Given the description of an element on the screen output the (x, y) to click on. 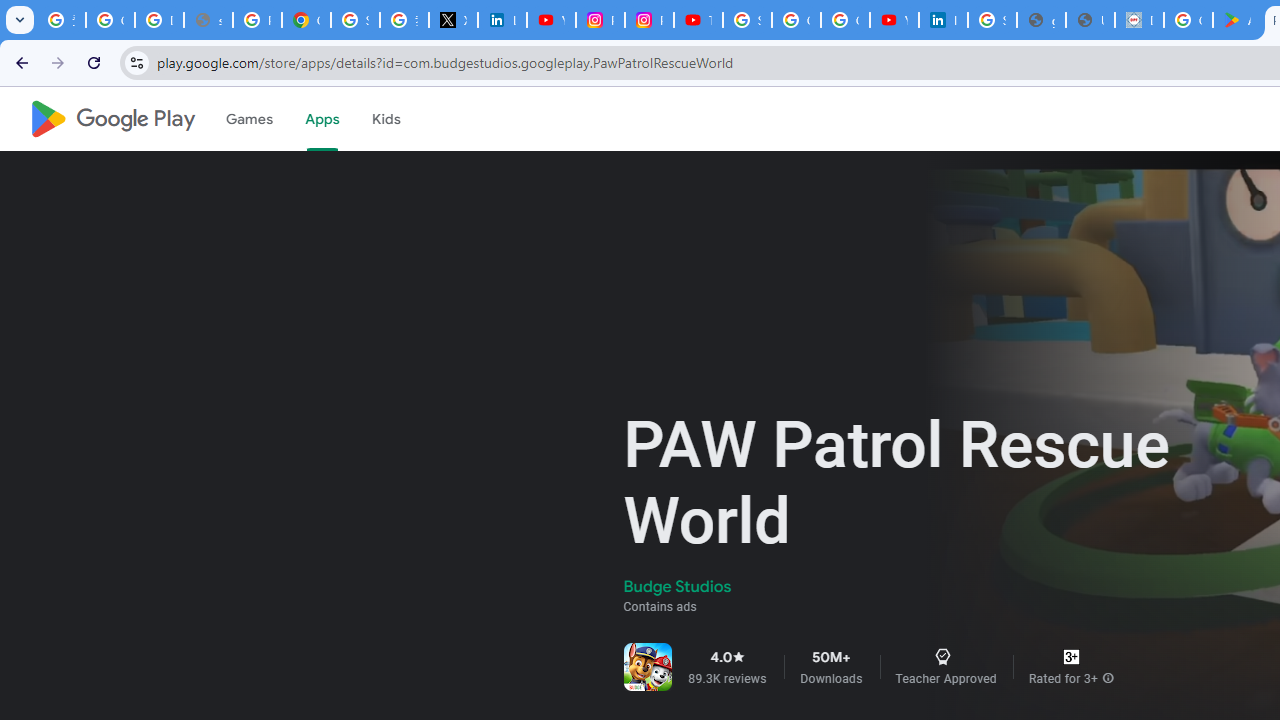
support.google.com - Network error (208, 20)
Data Privacy Framework (1138, 20)
X (452, 20)
Sign in - Google Accounts (747, 20)
